Given the description of an element on the screen output the (x, y) to click on. 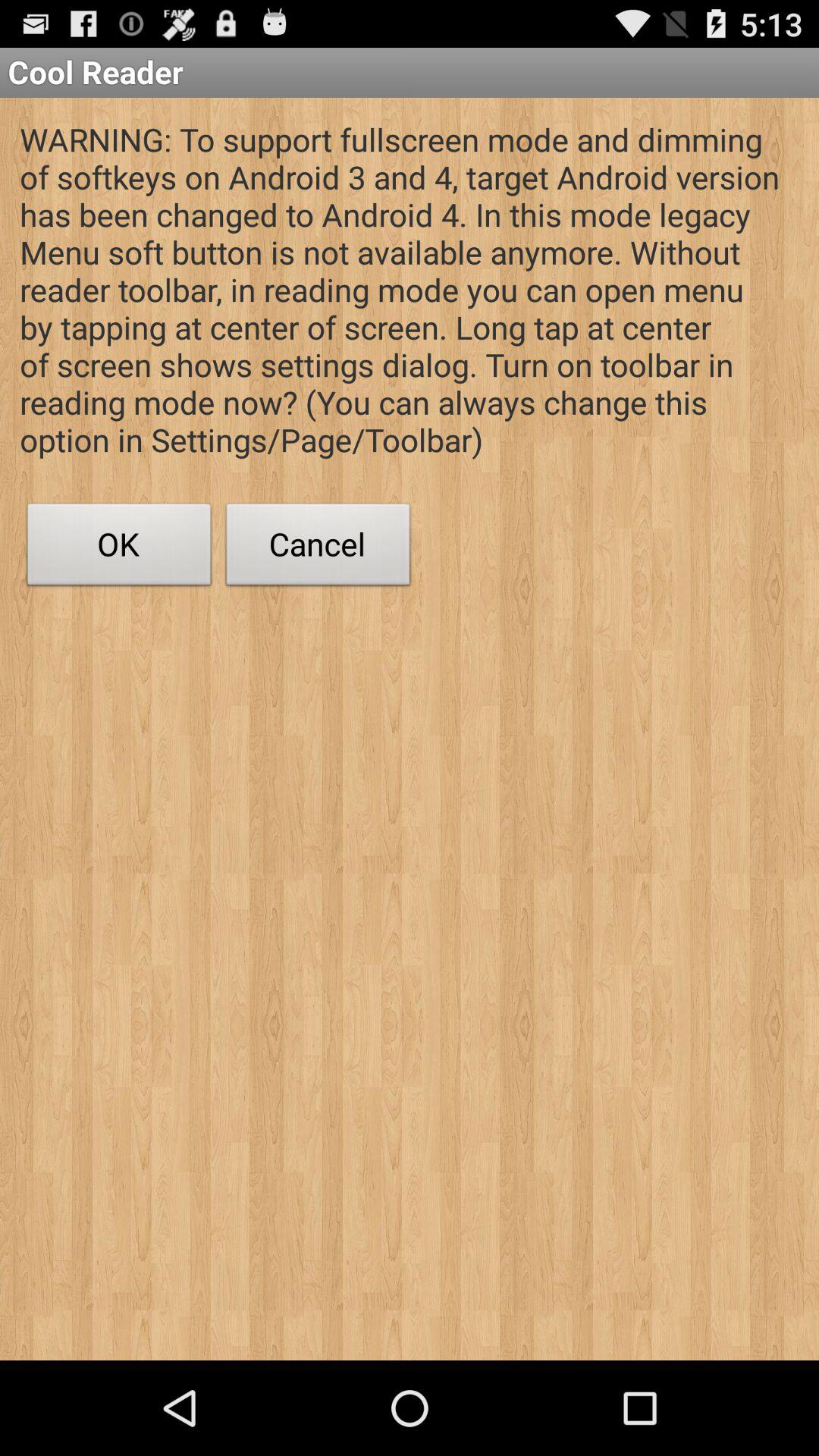
turn off ok item (118, 548)
